Given the description of an element on the screen output the (x, y) to click on. 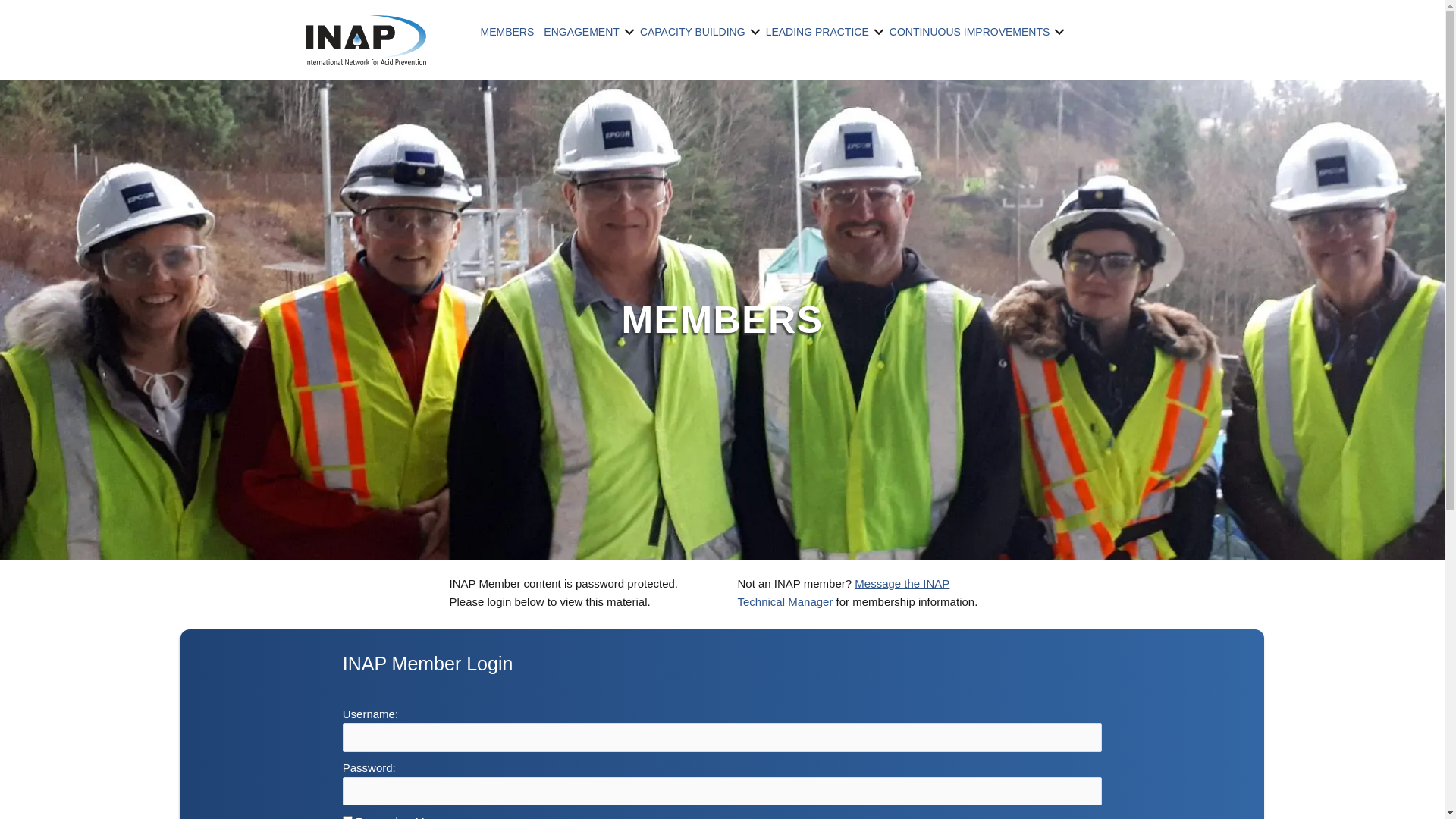
LEADING PRACTICE Element type: text (826, 31)
Message the INAP Technical Manager Element type: text (843, 592)
ENGAGEMENT Element type: text (591, 31)
INAP logo-2022-v2 Element type: hover (365, 40)
CAPACITY BUILDING Element type: text (702, 31)
MEMBERS Element type: text (511, 31)
CONTINUOUS IMPROVEMENTS Element type: text (979, 31)
